Given the description of an element on the screen output the (x, y) to click on. 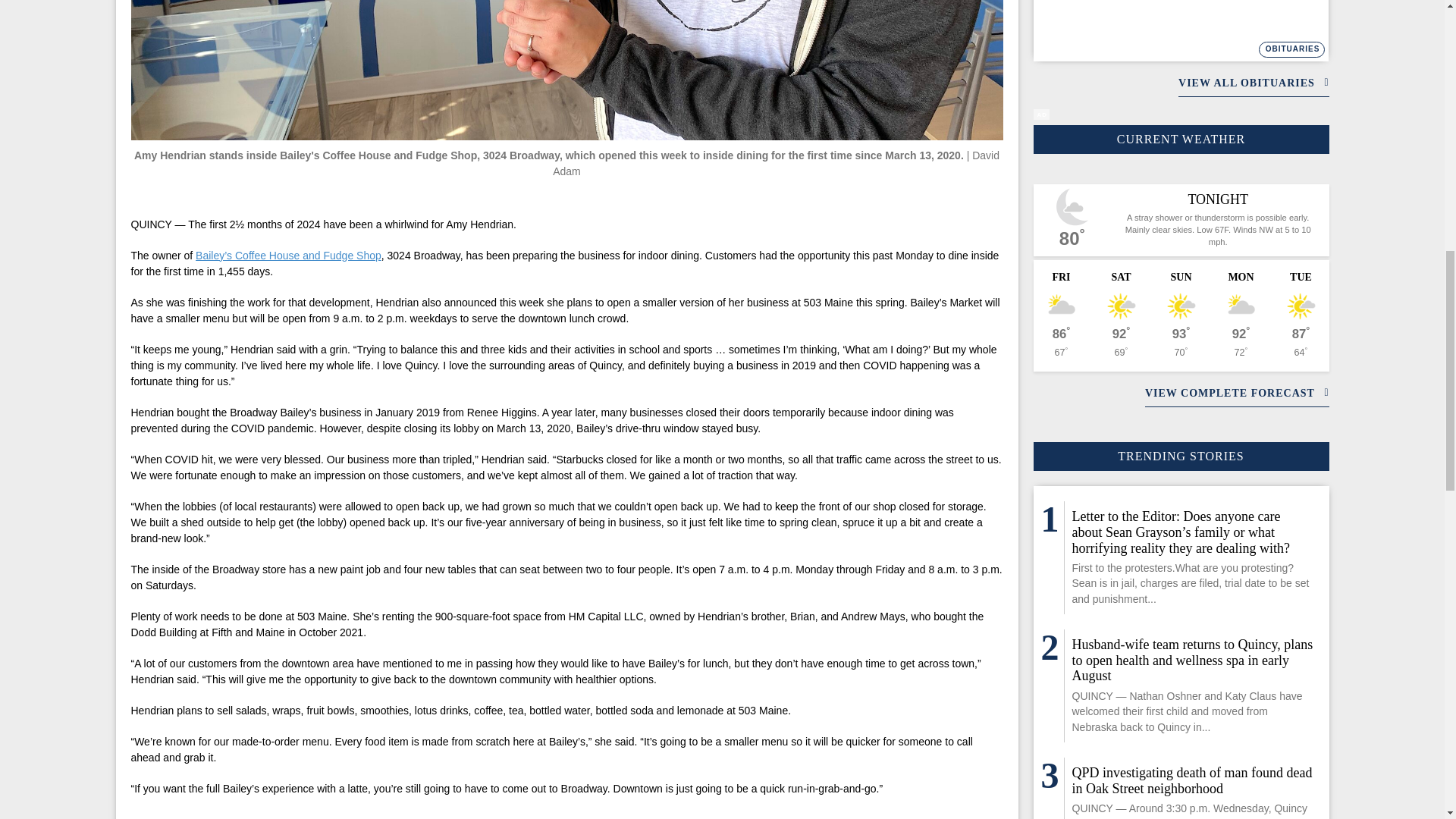
Amy Hendrian Bailey's (567, 70)
View Obituaries (1291, 49)
